Given the description of an element on the screen output the (x, y) to click on. 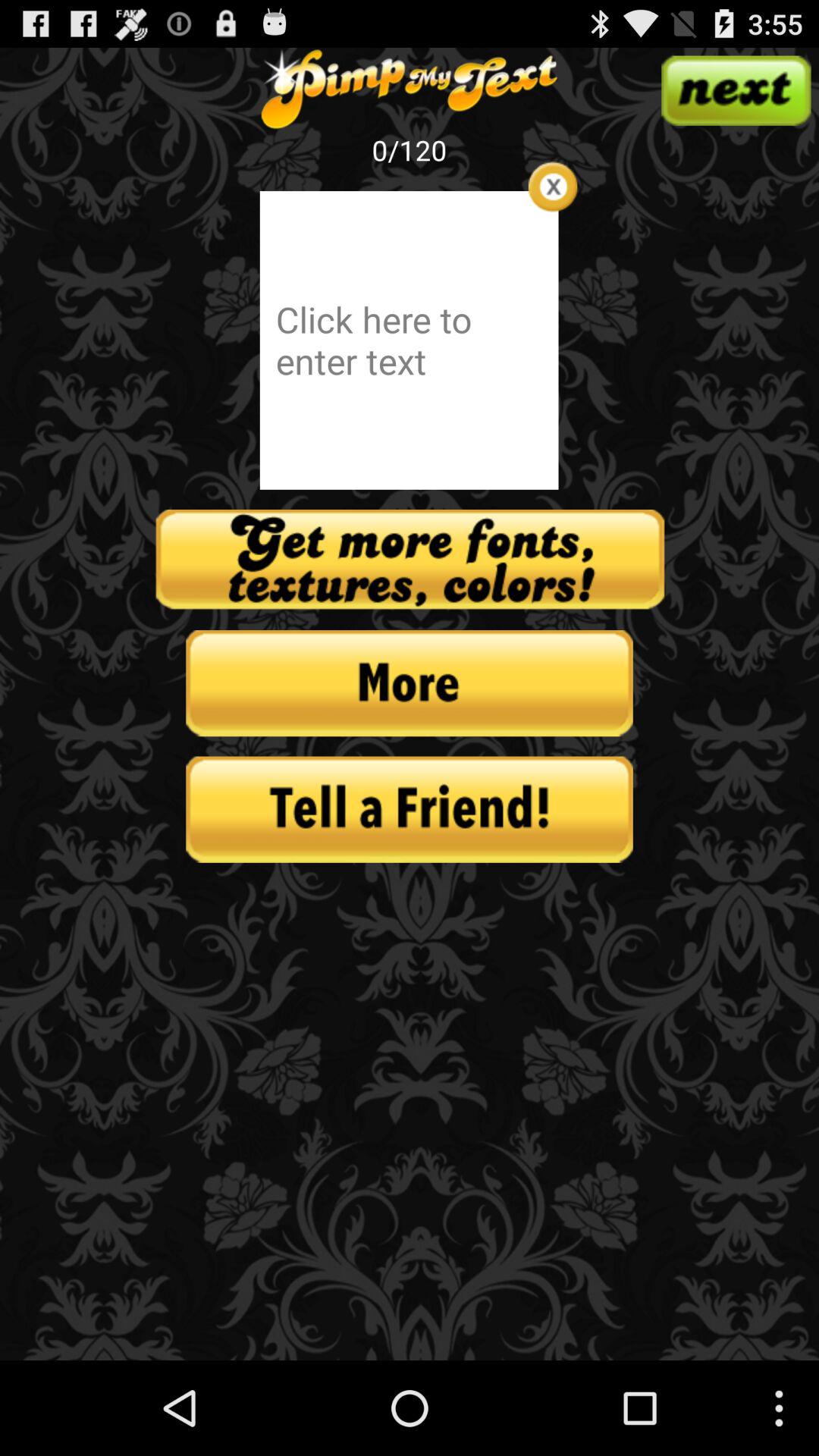
enter text (408, 340)
